Given the description of an element on the screen output the (x, y) to click on. 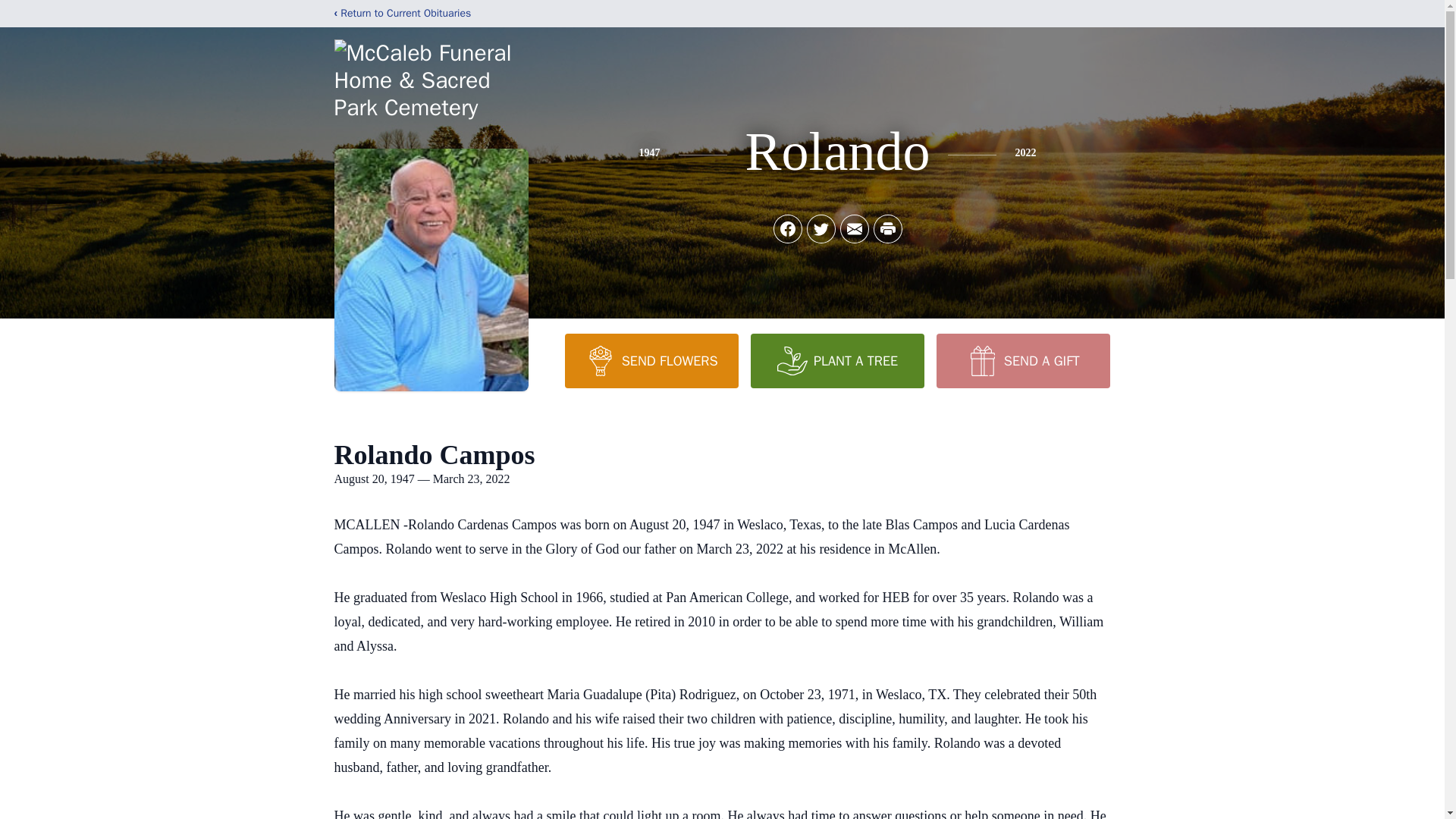
SEND A GIFT (1022, 360)
PLANT A TREE (837, 360)
SEND FLOWERS (651, 360)
